Given the description of an element on the screen output the (x, y) to click on. 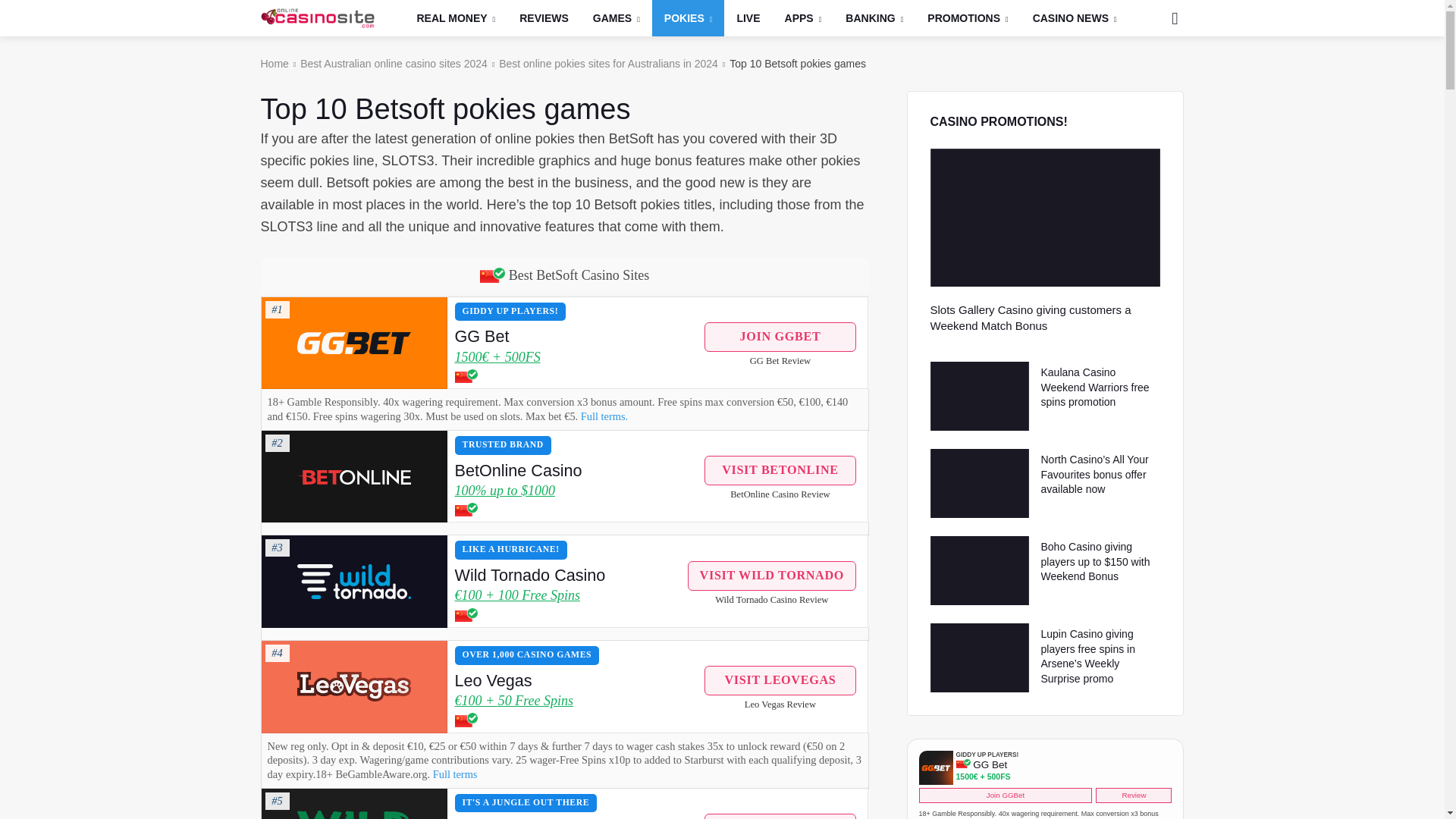
BANKING (873, 18)
Deposits (873, 18)
REAL MONEY (456, 18)
GAMES (616, 18)
Play at GG Bet (353, 342)
APPS (803, 18)
Claim bonus at GG Bet (353, 342)
Casino Apps (803, 18)
Best Casinos (456, 18)
REVIEWS (543, 18)
POKIES (688, 18)
Claim bonus at GG Bet (575, 357)
Best Pokies Sites (688, 18)
LIVE (747, 18)
Online Casino Sites (317, 17)
